Given the description of an element on the screen output the (x, y) to click on. 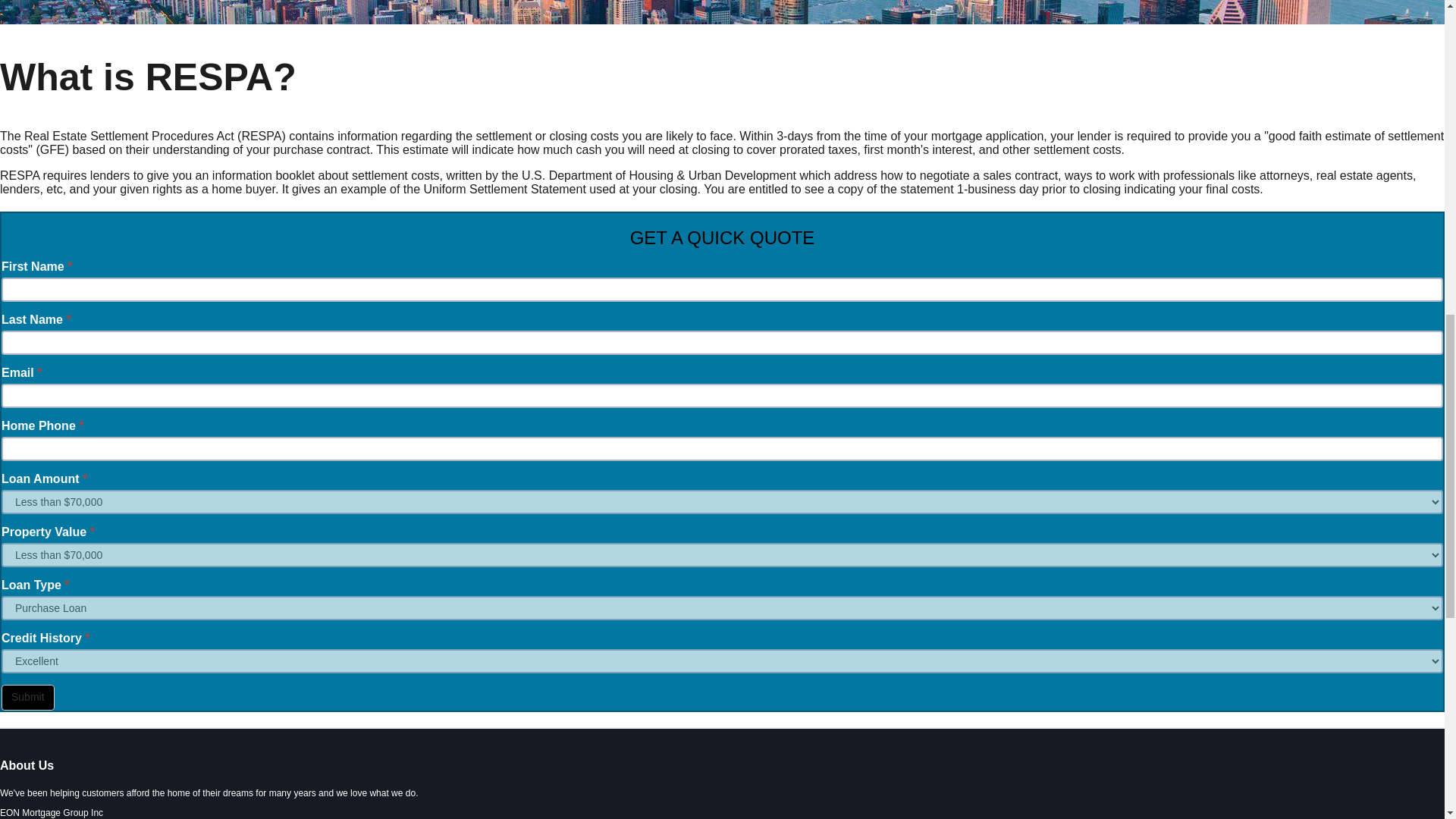
Submit (28, 697)
